Given the description of an element on the screen output the (x, y) to click on. 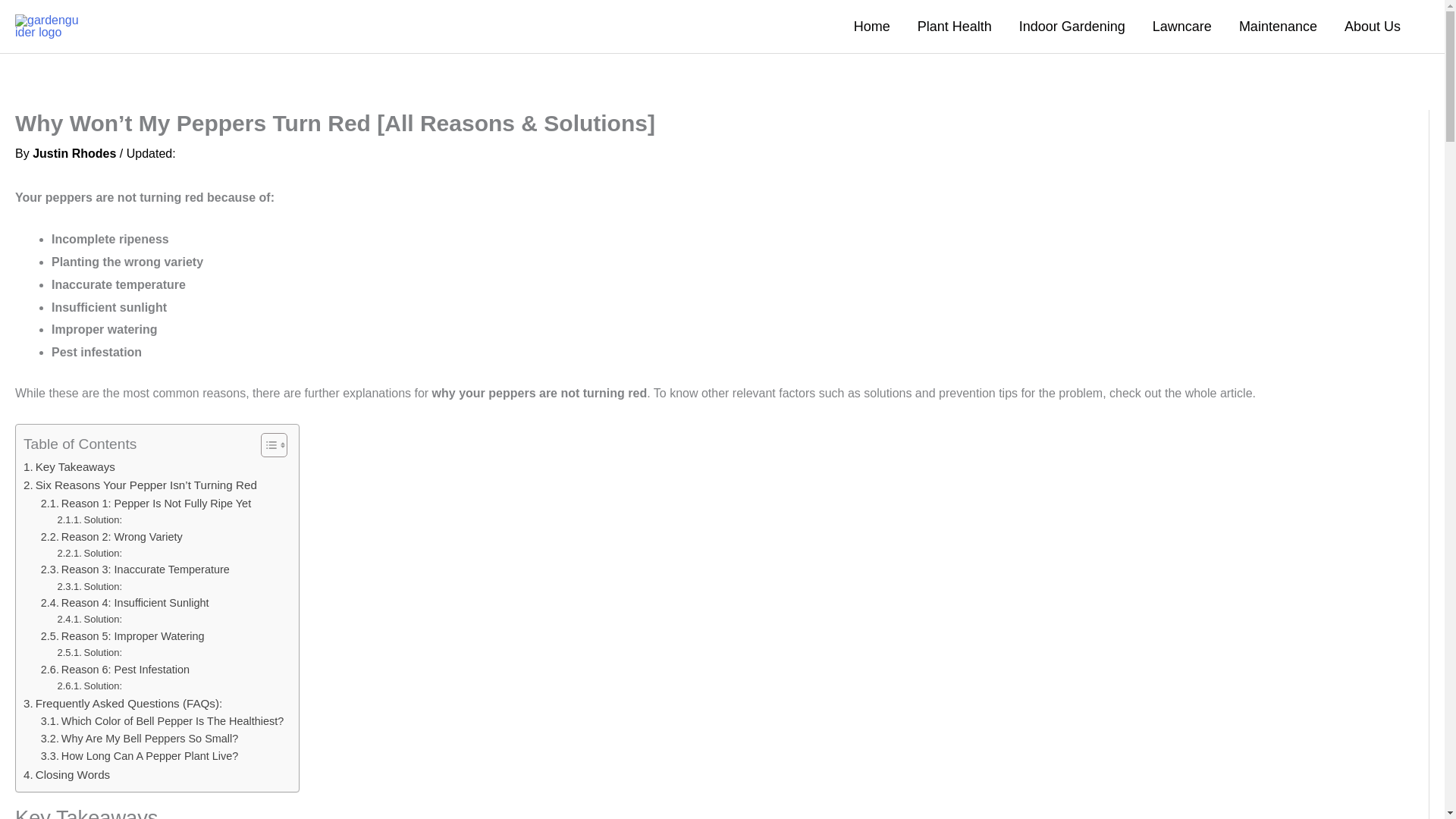
Solution: (89, 652)
Solution: (89, 686)
Maintenance (1277, 26)
Solution: (89, 520)
Reason 3: Inaccurate Temperature (135, 569)
Reason 5: Improper Watering  (124, 636)
Solution: (89, 520)
Reason 2: Wrong Variety (111, 537)
View all posts by Justin Rhodes (74, 153)
Justin Rhodes (74, 153)
Reason 4: Insufficient Sunlight (124, 602)
Solution: (89, 553)
Solution: (89, 619)
Solution: (89, 587)
